Given the description of an element on the screen output the (x, y) to click on. 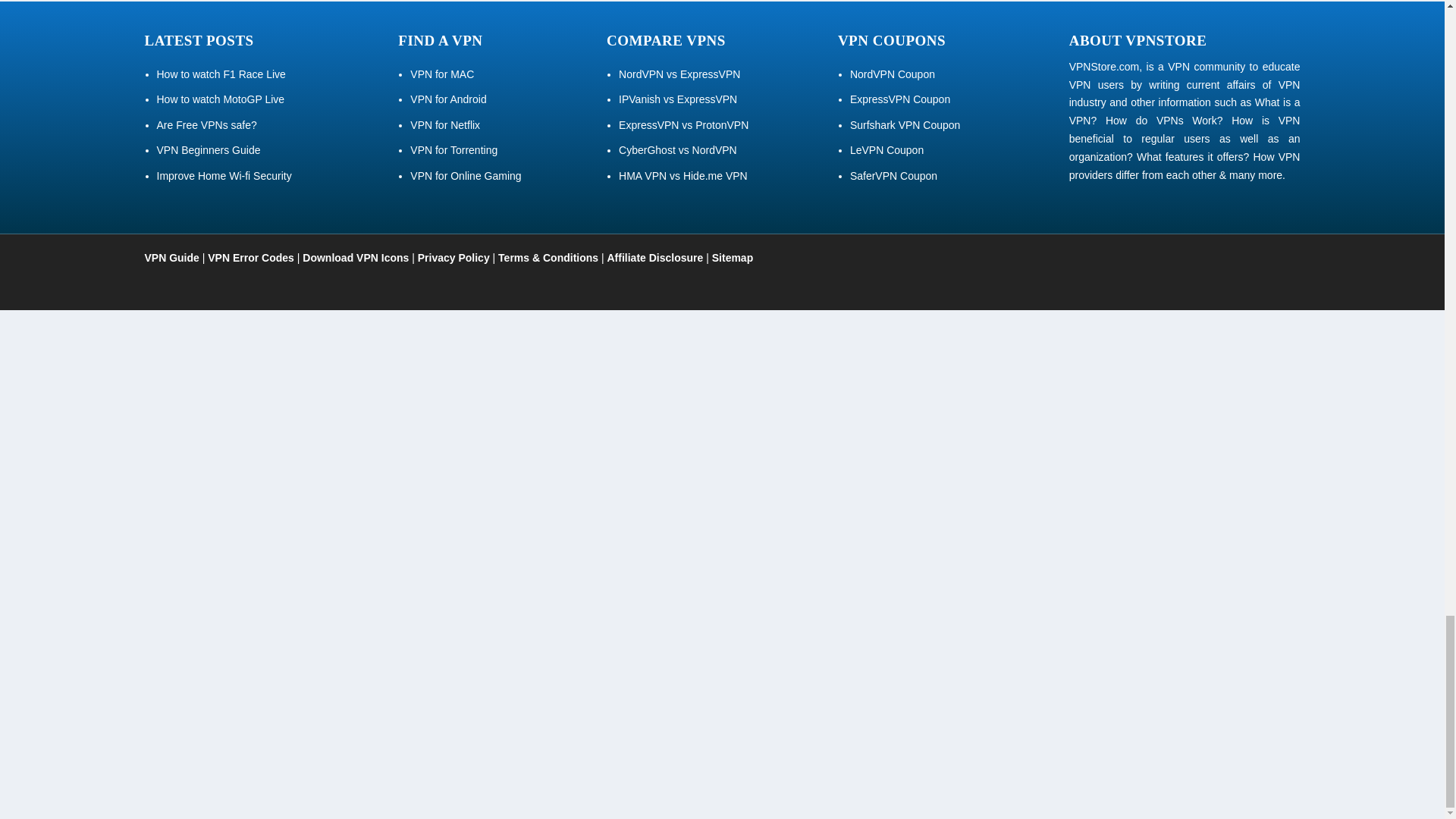
How to watch F1 Race Live (220, 73)
VPN Beginners Guide (207, 150)
CyberGhost vs NordVPN (677, 150)
VPN for Torrenting (453, 150)
VPN for Android (448, 99)
VPN for Online Gaming (465, 175)
Are Free VPNs safe? (205, 124)
ExpressVPN vs ProtonVPN (683, 124)
HMA VPN vs Hide.me VPN (683, 175)
How to watch MotoGP Live (219, 99)
